Given the description of an element on the screen output the (x, y) to click on. 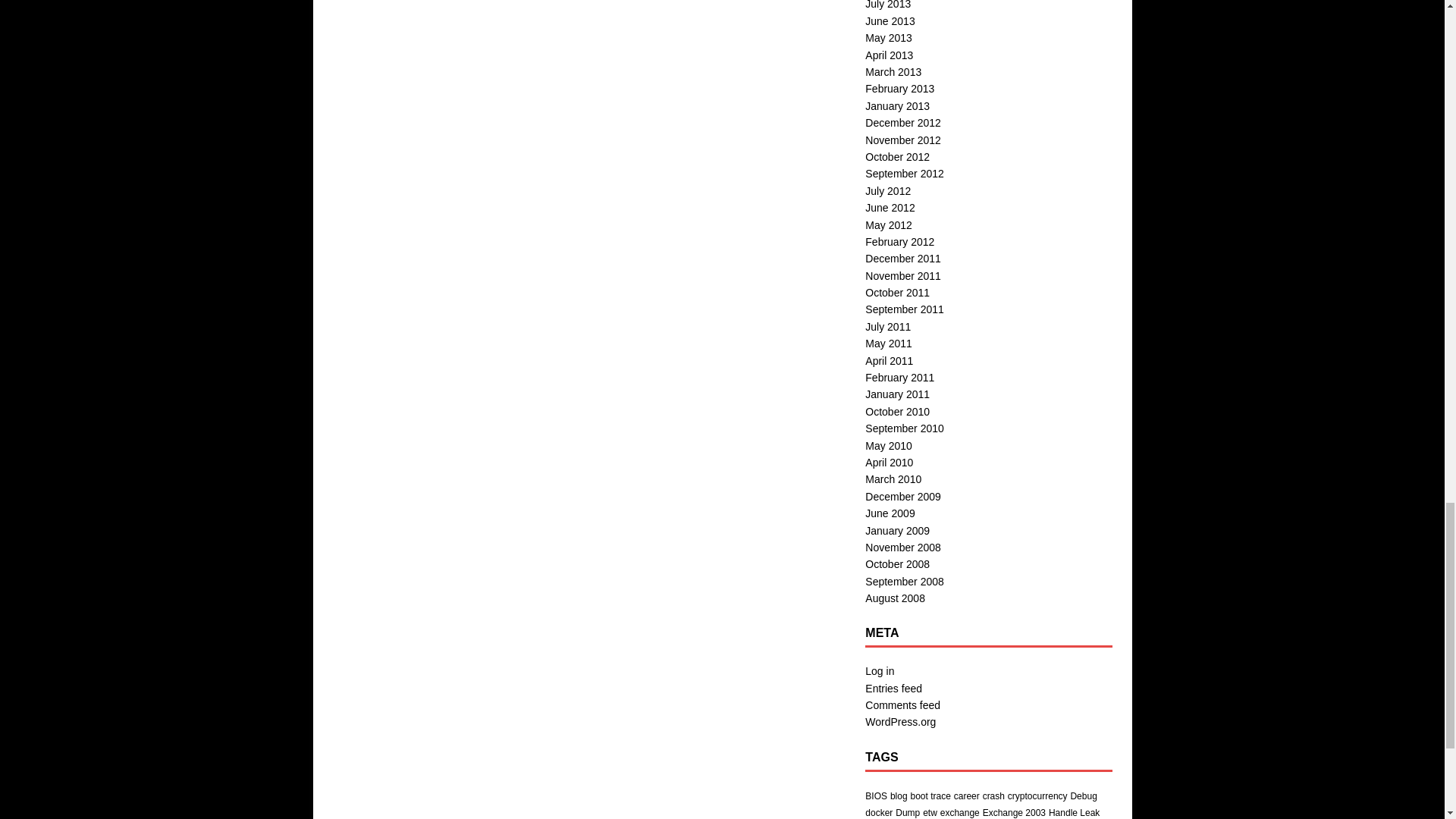
Comment Form (588, 75)
